Given the description of an element on the screen output the (x, y) to click on. 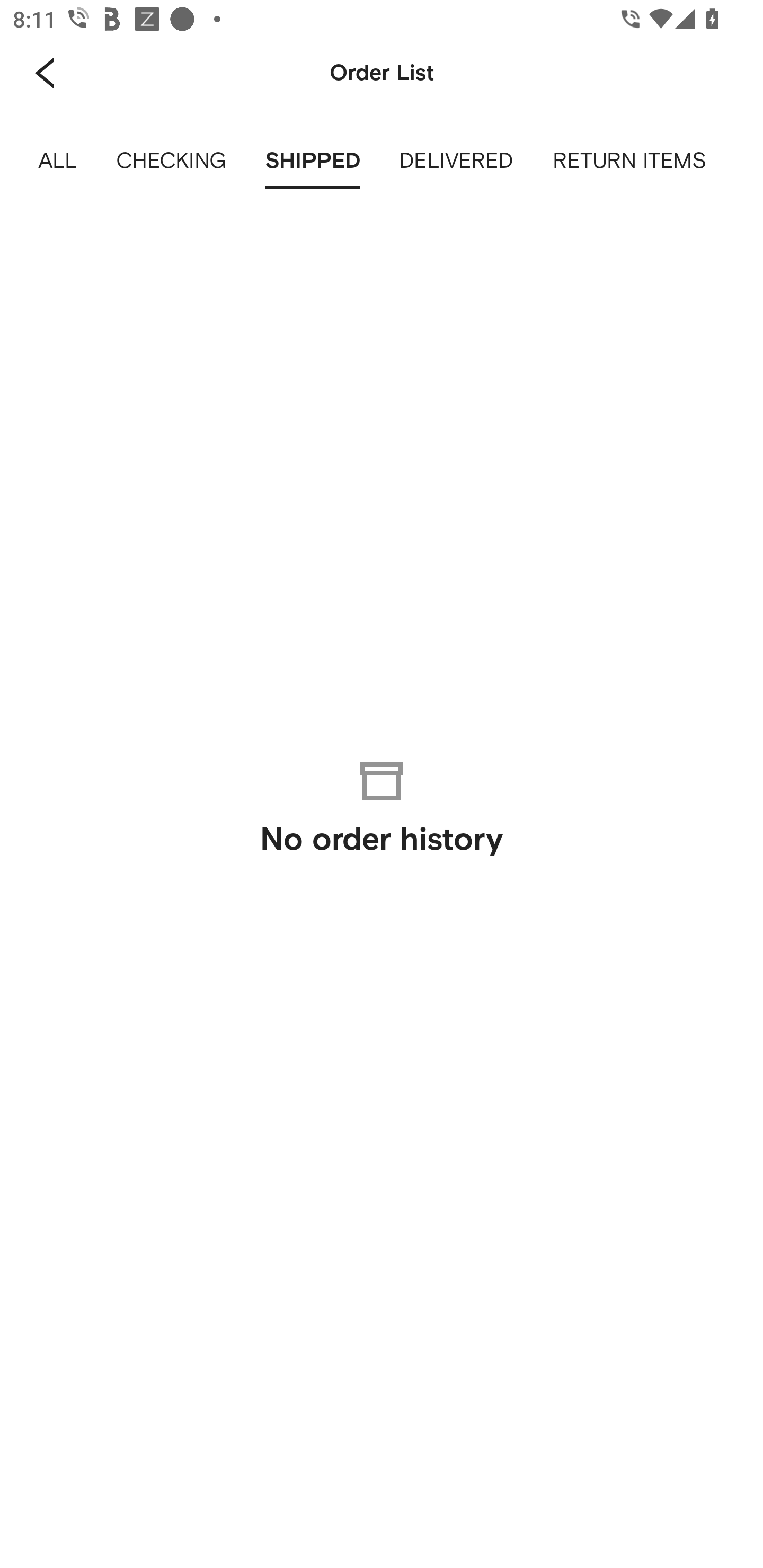
ALL (57, 161)
CHECKING (170, 161)
DELIVERED (456, 161)
RETURN ITEMS (628, 161)
